Given the description of an element on the screen output the (x, y) to click on. 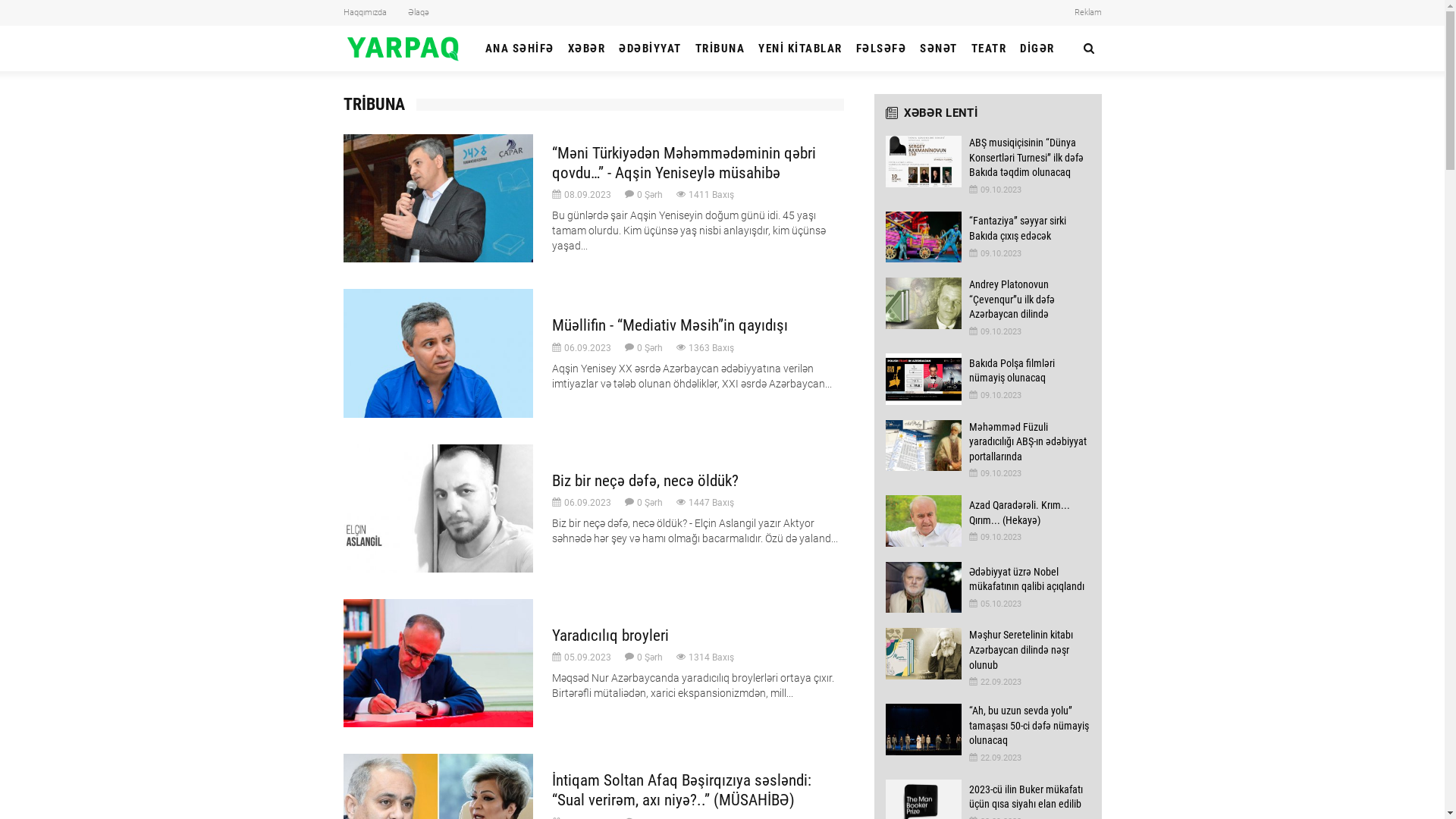
Reklam Element type: text (1087, 12)
TEATR Element type: text (988, 48)
